Given the description of an element on the screen output the (x, y) to click on. 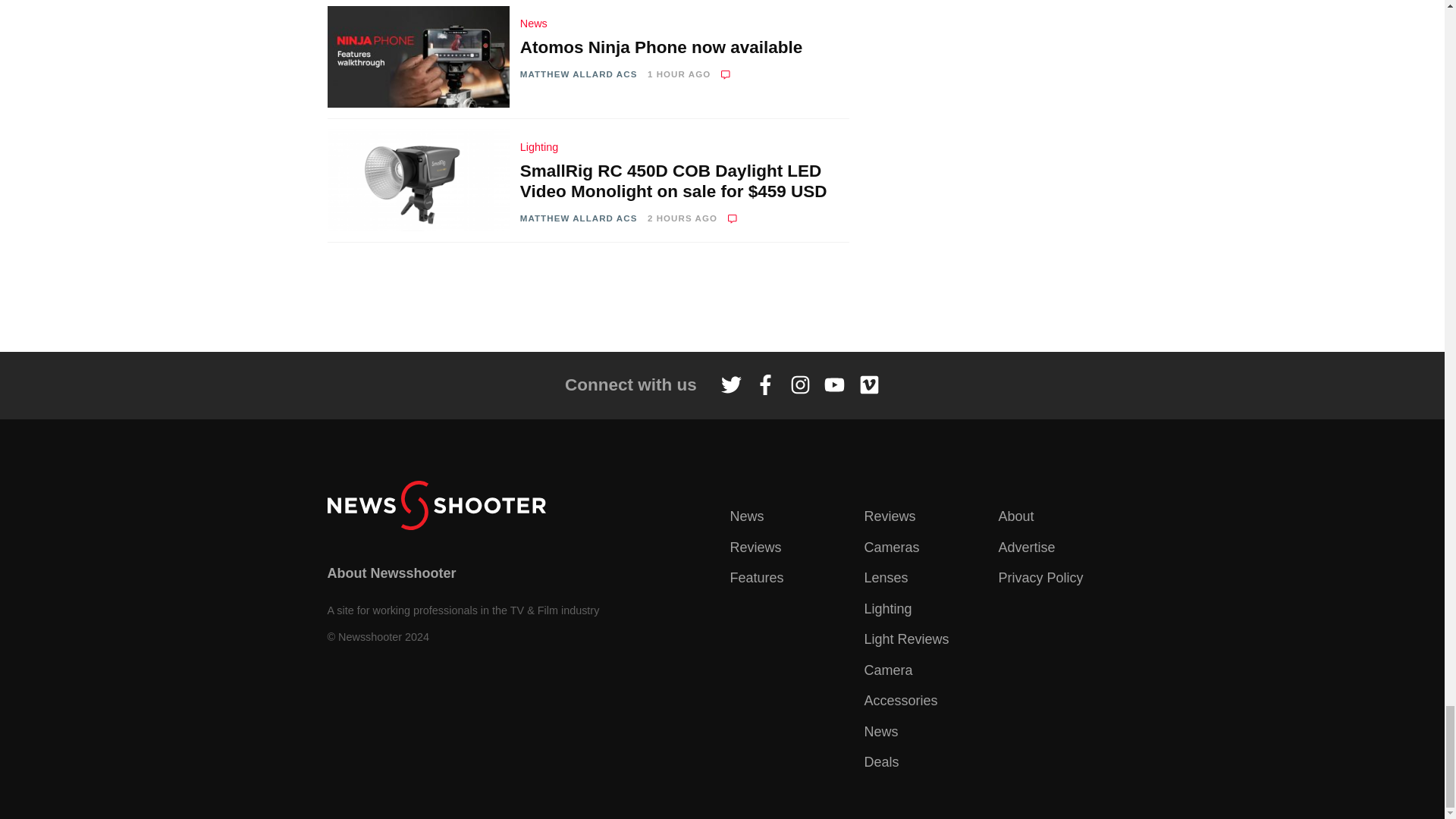
3rd party ad content (721, 296)
